Given the description of an element on the screen output the (x, y) to click on. 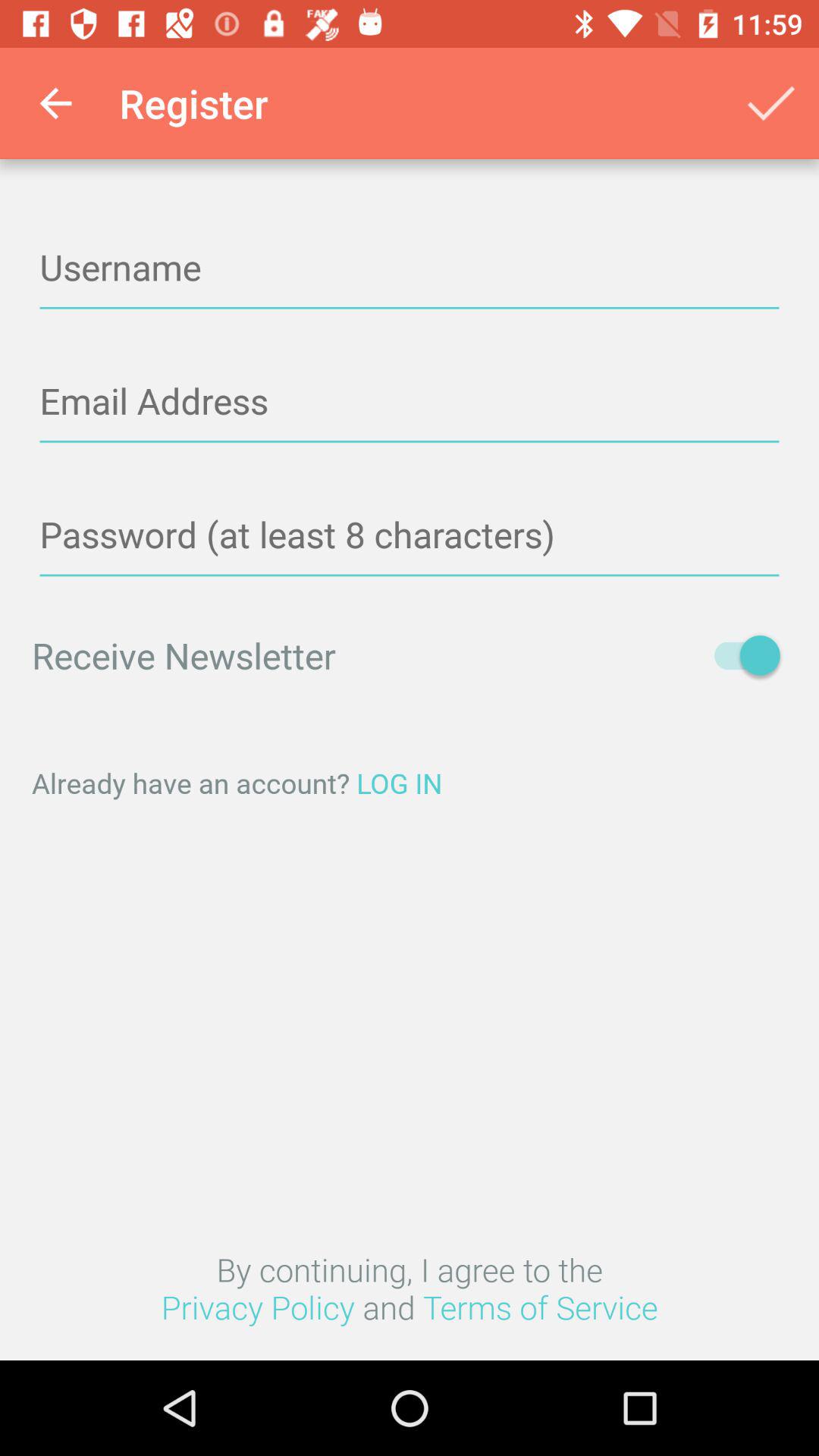
press icon next to receive newsletter (739, 655)
